Given the description of an element on the screen output the (x, y) to click on. 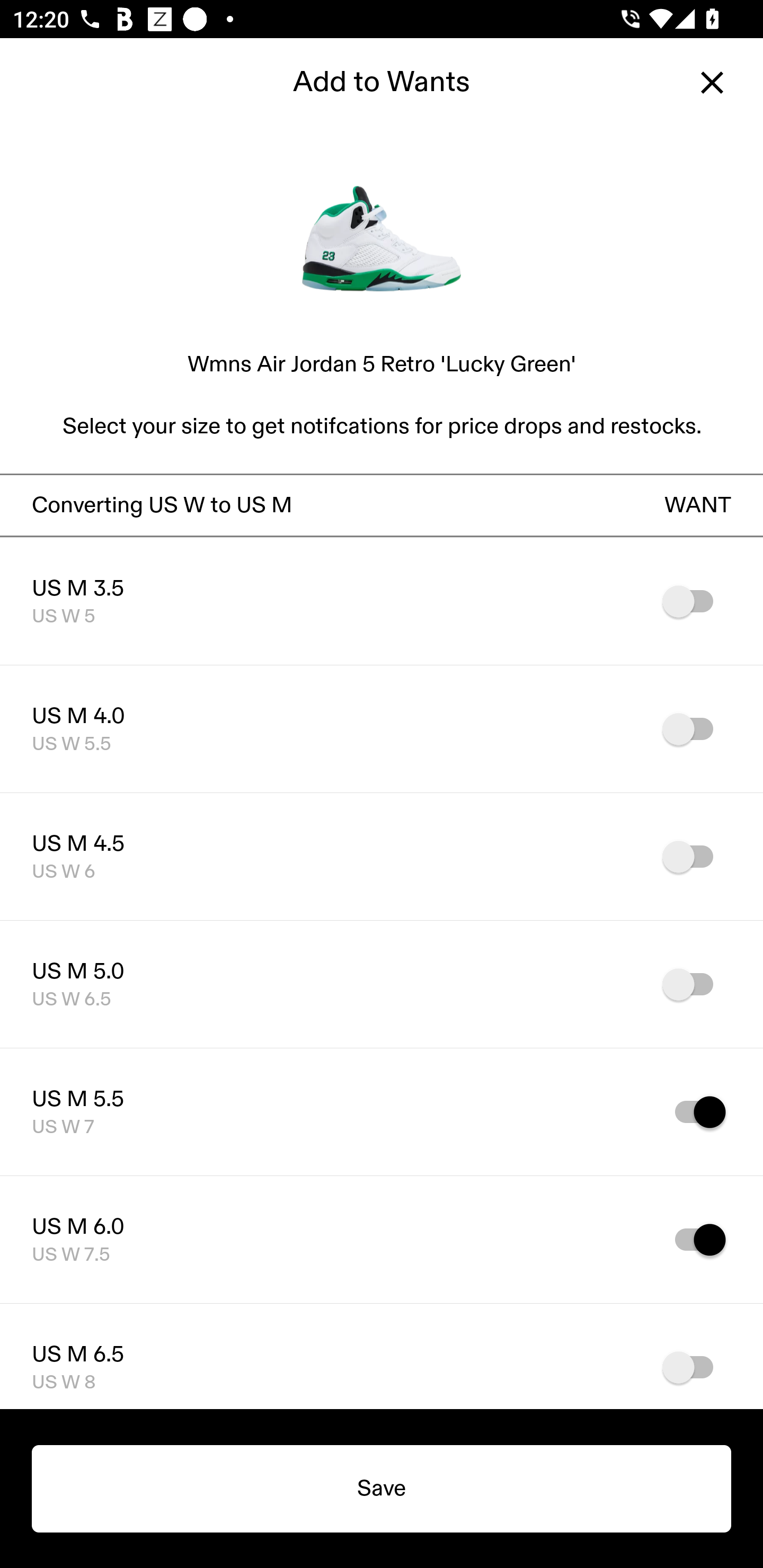
Save (381, 1488)
